Given the description of an element on the screen output the (x, y) to click on. 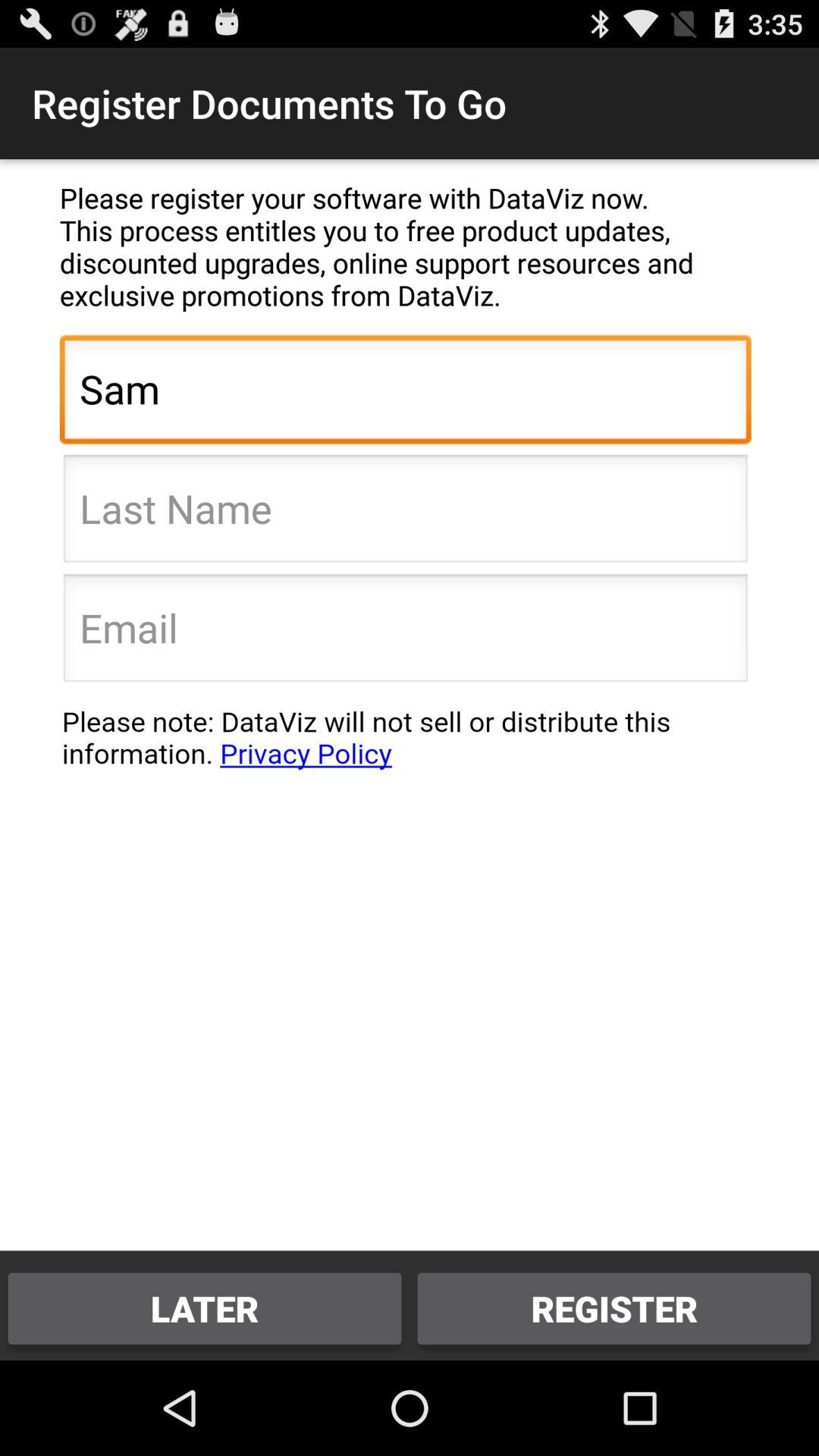
respect your privacy (405, 745)
